Given the description of an element on the screen output the (x, y) to click on. 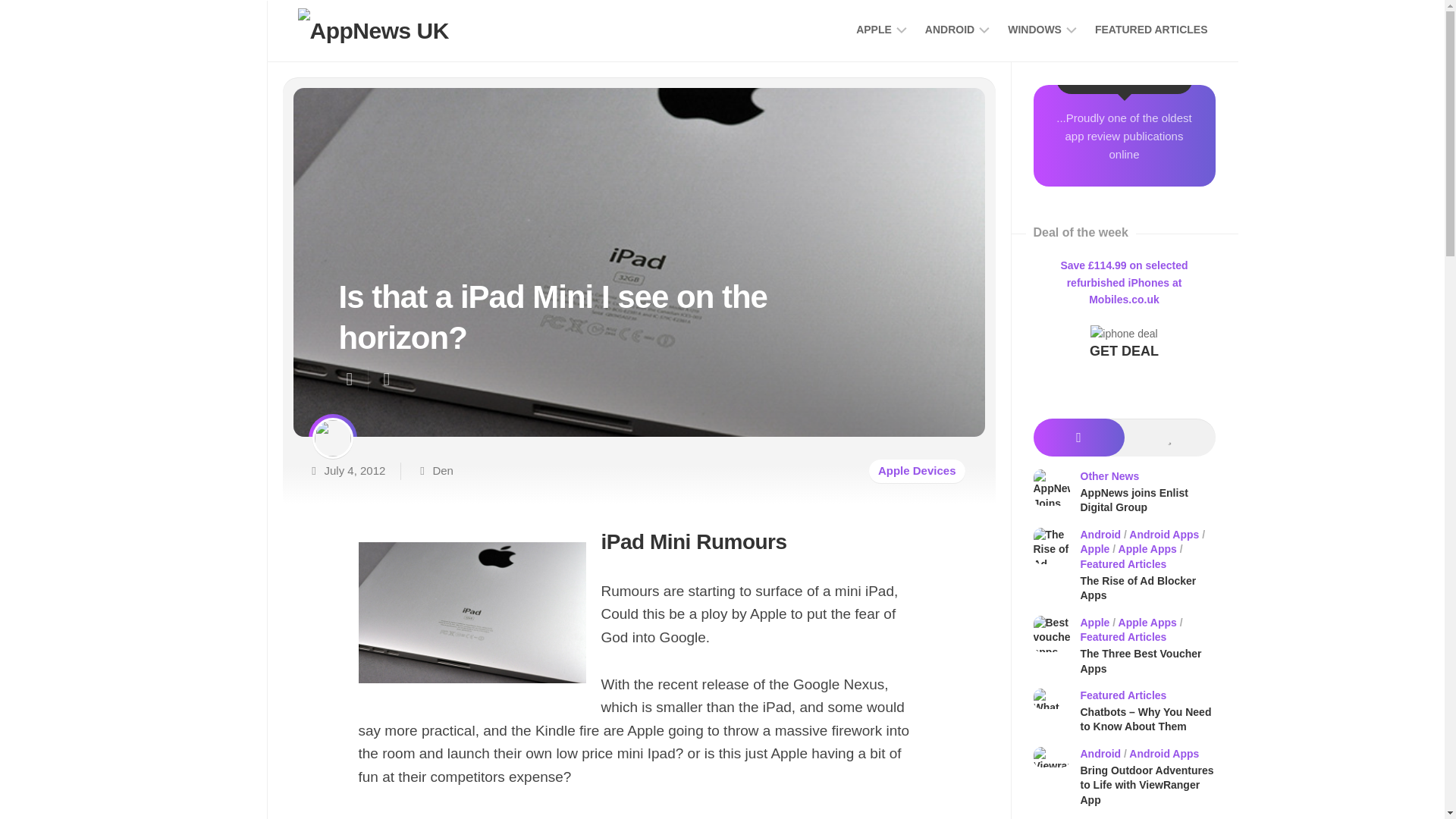
Apple News (873, 29)
FEATURED ARTICLES (1151, 29)
WINDOWS (1034, 29)
ANDROID (949, 29)
APPLE (873, 29)
Windows News (1034, 29)
Den (442, 470)
Featured Articles (1151, 29)
Android News (751, 31)
Apple Devices (949, 29)
